Given the description of an element on the screen output the (x, y) to click on. 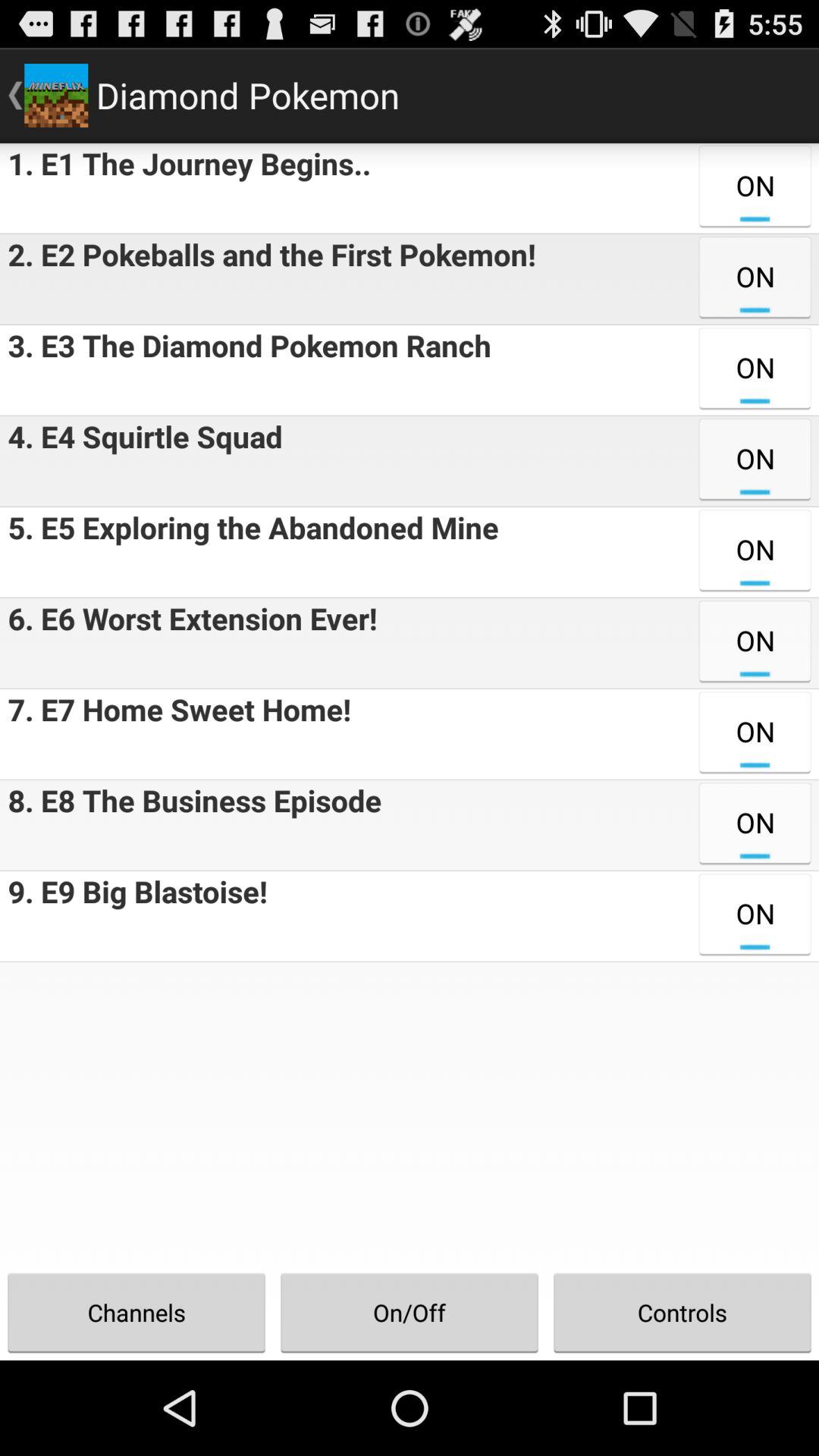
click app below the 1 e1 the app (267, 279)
